Given the description of an element on the screen output the (x, y) to click on. 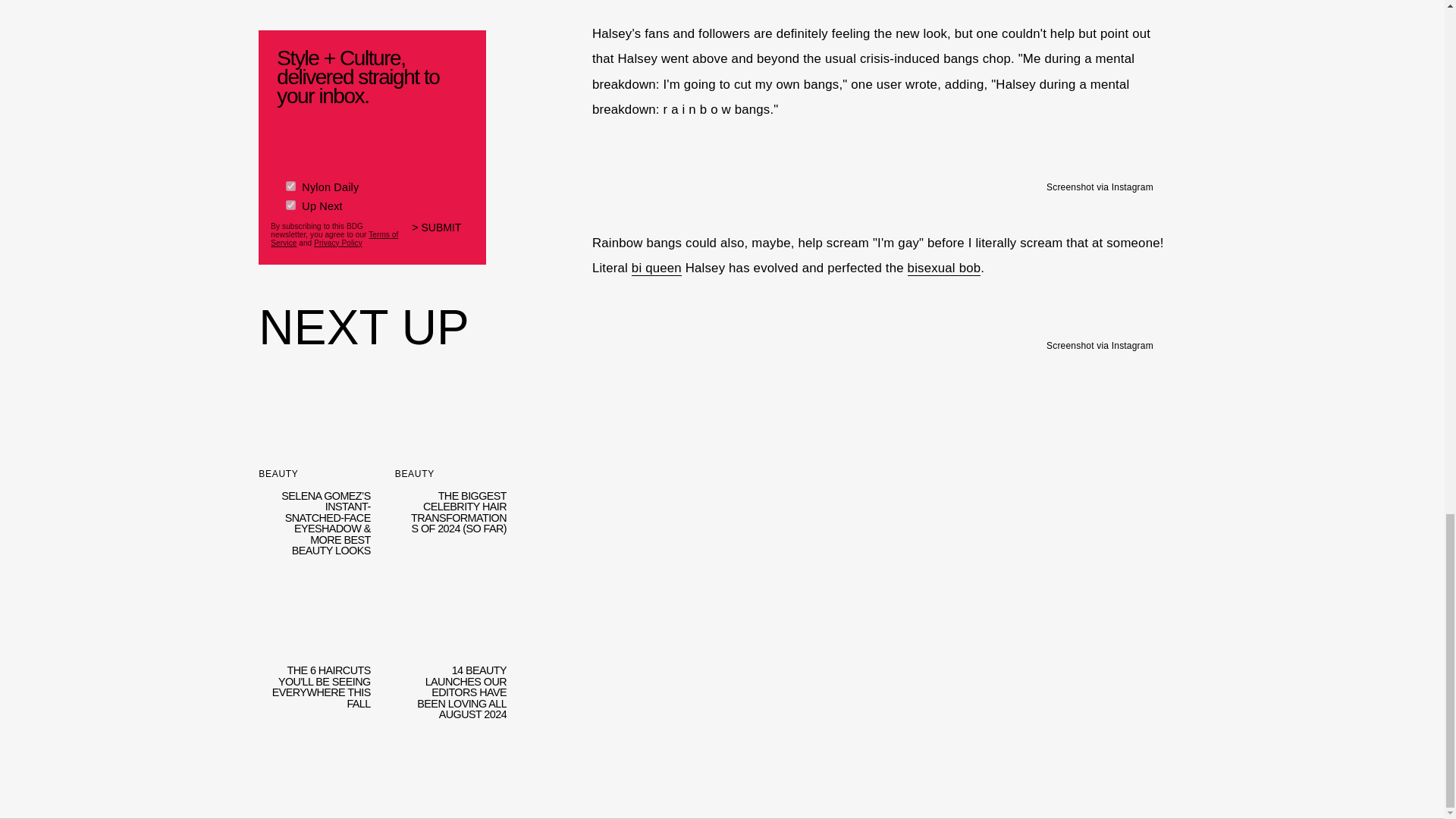
bisexual bob (944, 268)
SUBMIT (443, 236)
Terms of Service (333, 238)
Privacy Policy (338, 243)
bi queen (656, 268)
